Given the description of an element on the screen output the (x, y) to click on. 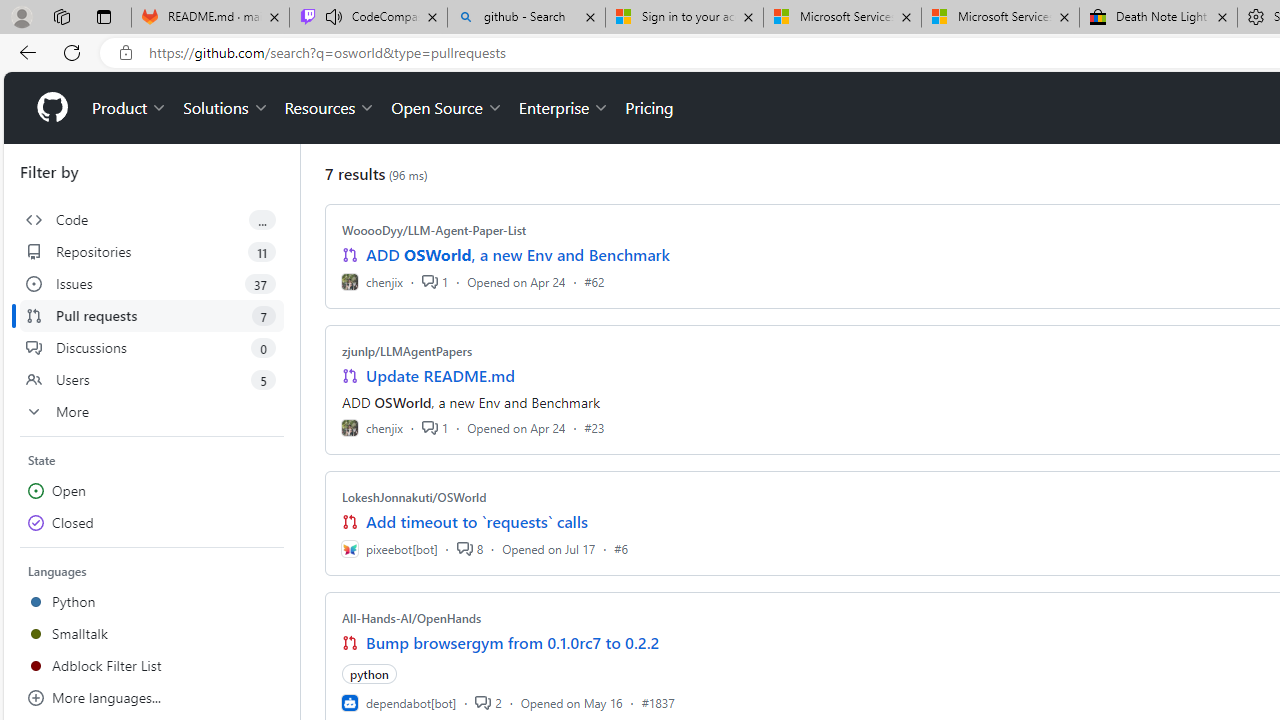
LokeshJonnakuti/OSWorld (413, 497)
Product (130, 107)
Sign in to your account (683, 17)
Bump browsergym from 0.1.0rc7 to 0.2.2 (513, 642)
ADD OSWorld, a new Env and Benchmark (517, 255)
